Given the description of an element on the screen output the (x, y) to click on. 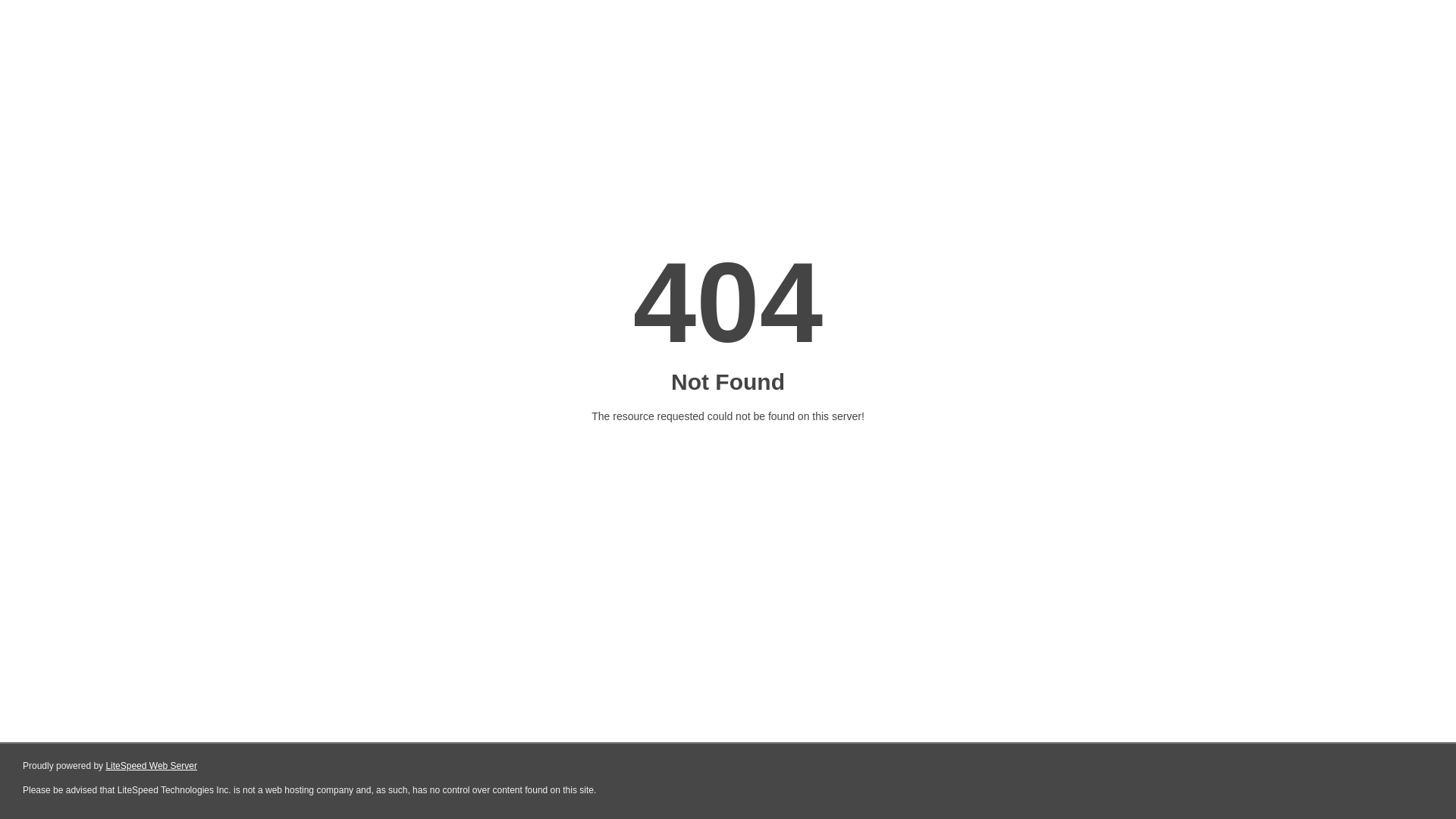
LiteSpeed Web Server Element type: text (151, 765)
